Given the description of an element on the screen output the (x, y) to click on. 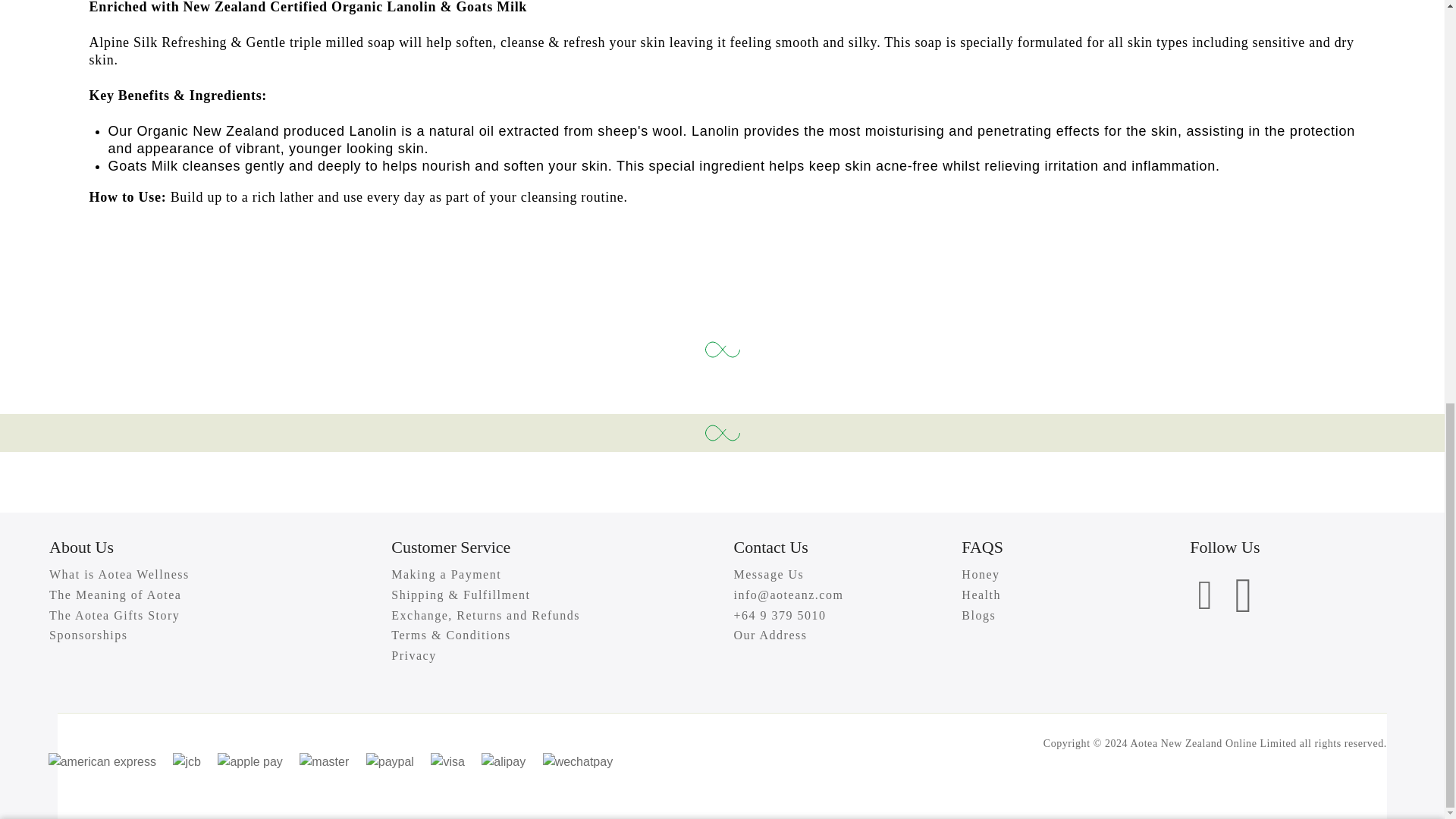
1 (1001, 60)
